Given the description of an element on the screen output the (x, y) to click on. 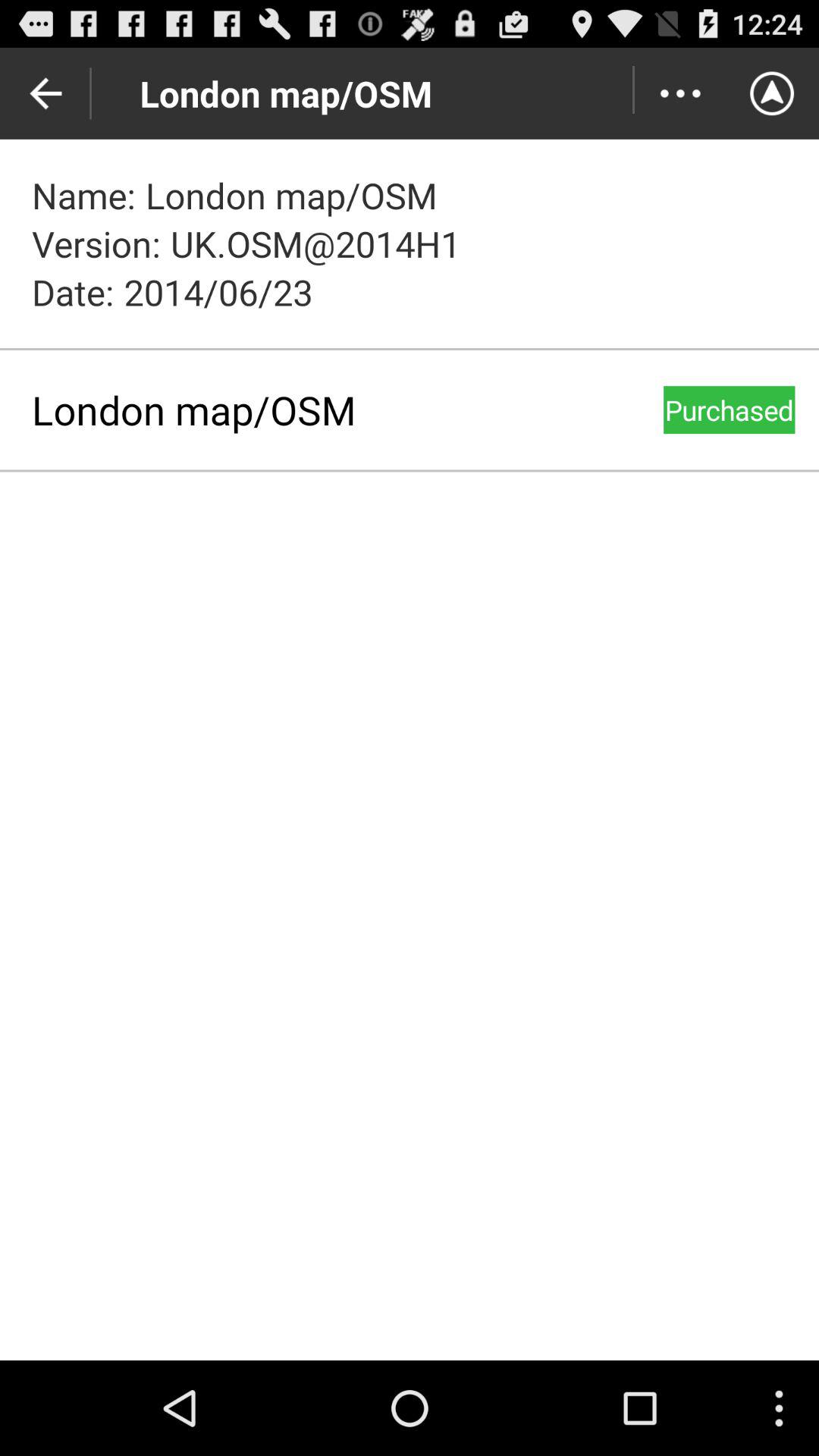
press the item above 2014/06/23 app (680, 93)
